Given the description of an element on the screen output the (x, y) to click on. 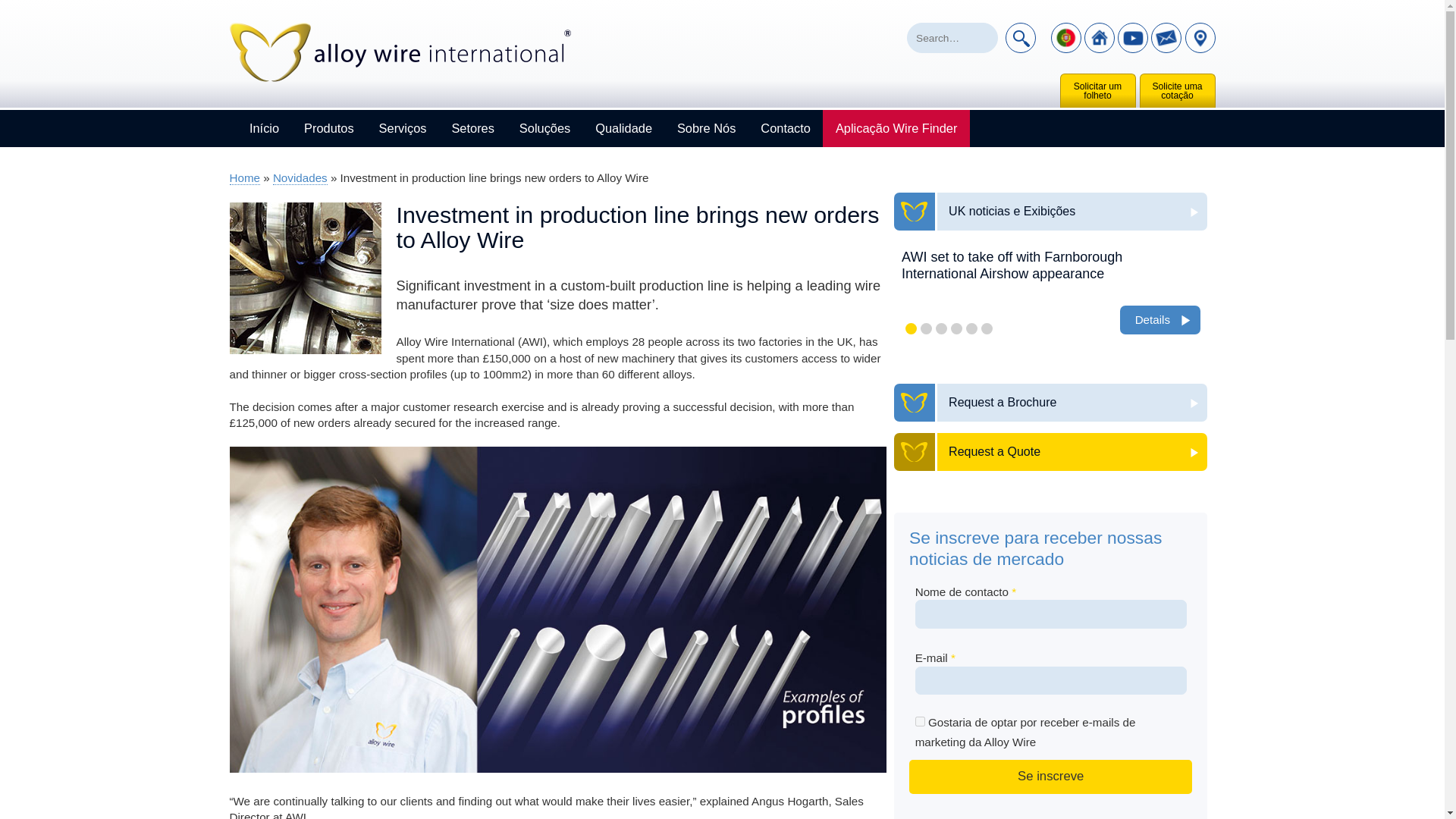
Produtos (329, 128)
Contact Information (1199, 37)
Contact Alloy Wire (1165, 37)
Pesquisar (1020, 37)
Pesquisar (1020, 37)
Solicitar um folheto (1097, 92)
Setores (472, 128)
Se inscreve (1050, 776)
Back to Alloy Wire (1099, 37)
Pesquisar (1020, 37)
Mudar idioma (1066, 37)
